Given the description of an element on the screen output the (x, y) to click on. 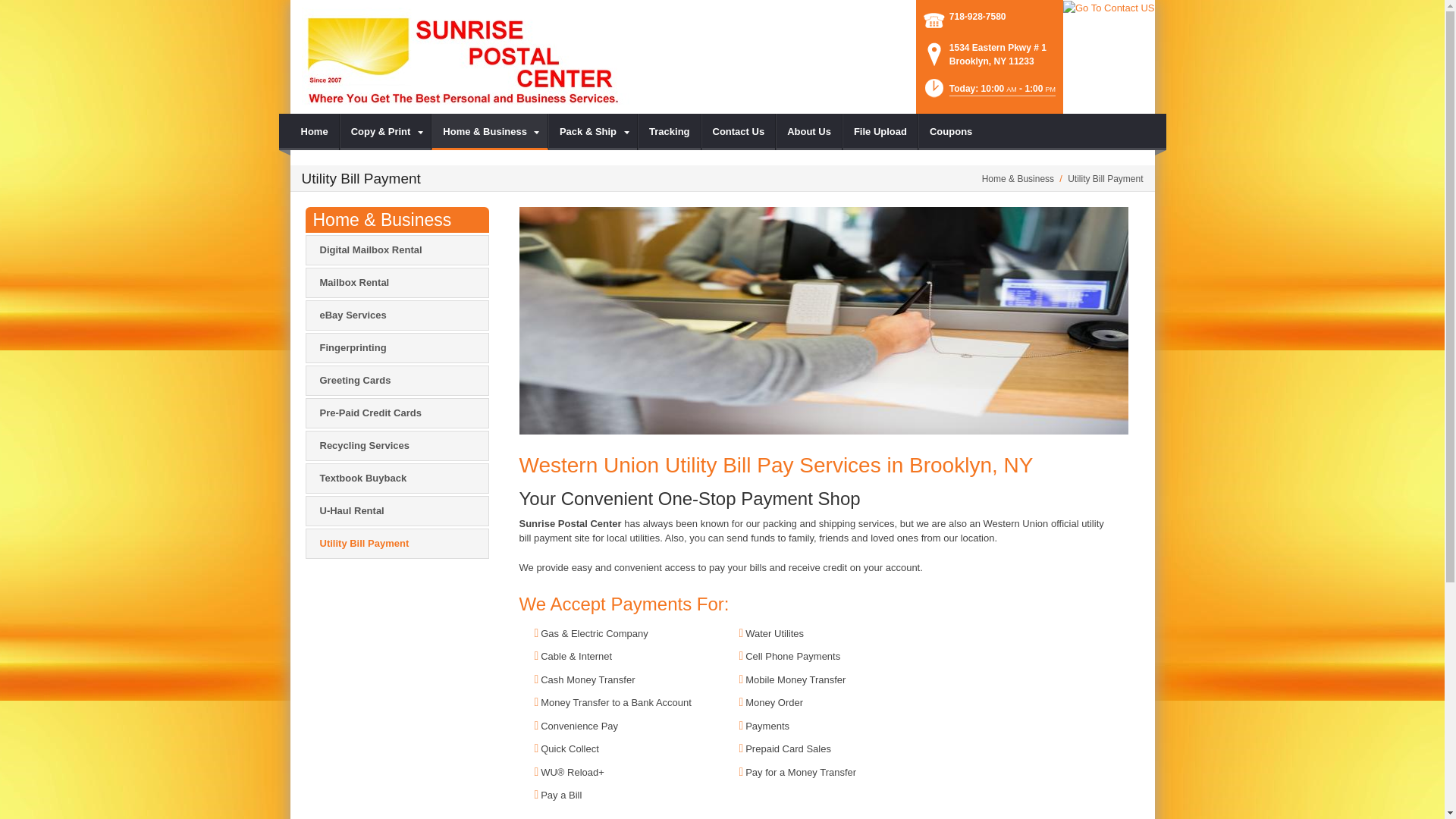
Contact Us (1108, 7)
718-928-7580 (977, 15)
Today: 10:00AM - 1:00PM (988, 92)
Sunrise Postal Center, Brooklyn NY (464, 56)
Contact Us (738, 131)
Tracking (668, 131)
Home (314, 131)
